Given the description of an element on the screen output the (x, y) to click on. 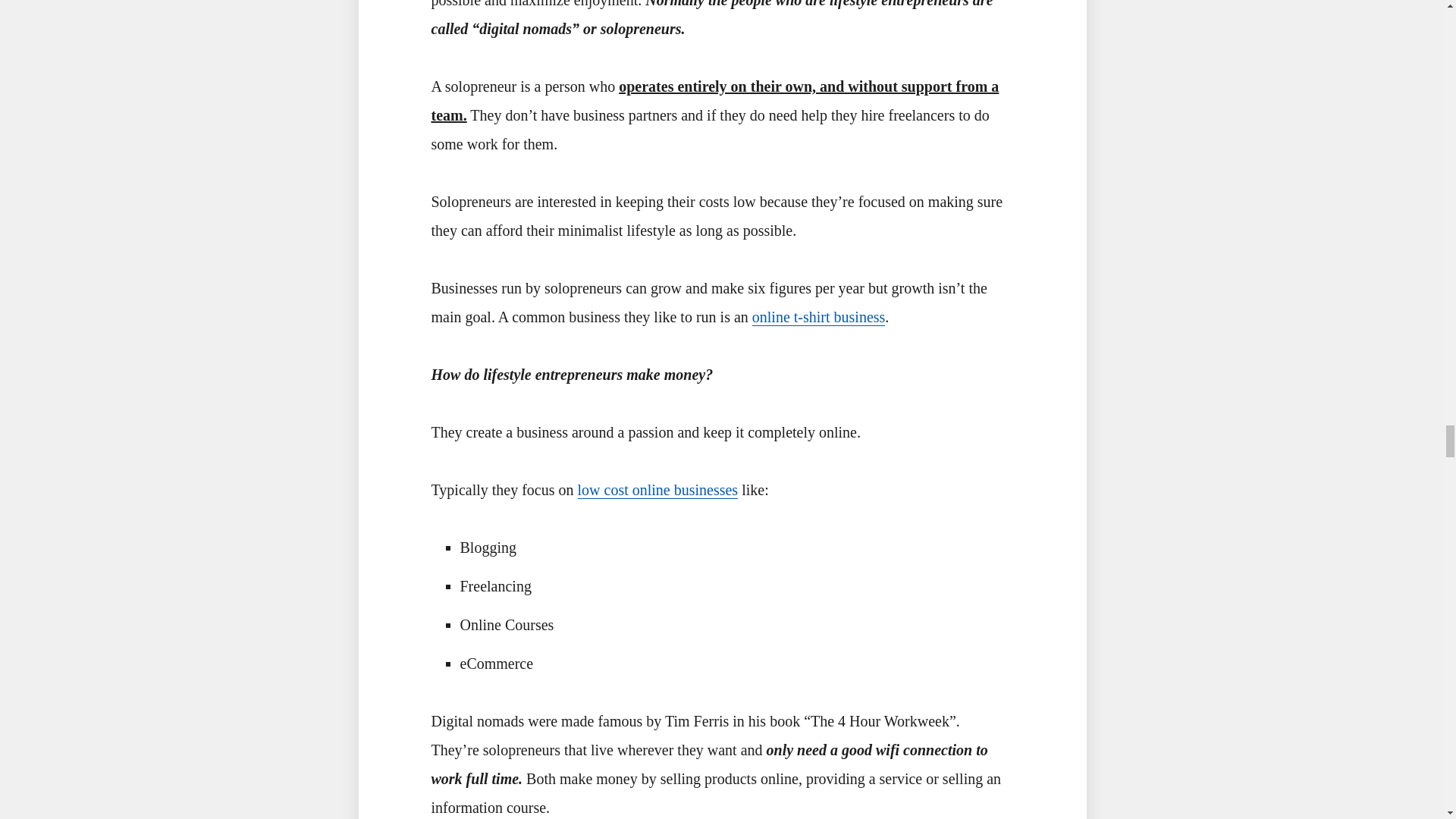
online t-shirt business (818, 316)
low cost online businesses (658, 489)
